Given the description of an element on the screen output the (x, y) to click on. 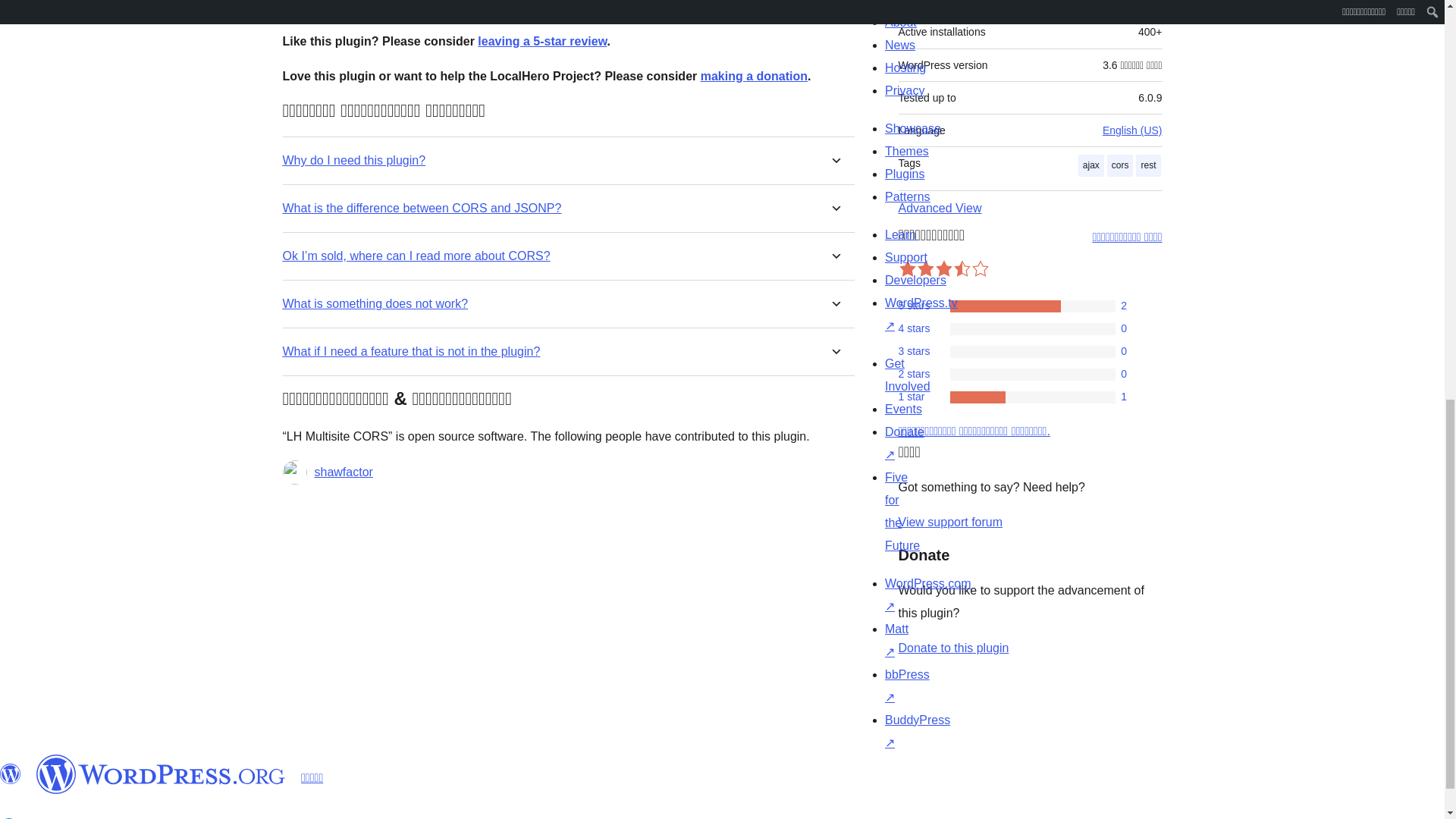
WordPress.org (160, 773)
Why do I need this plugin? (353, 160)
leaving a 5-star review (542, 41)
WordPress.org (10, 773)
making a donation (754, 75)
What is the difference between CORS and JSONP? (421, 207)
